Given the description of an element on the screen output the (x, y) to click on. 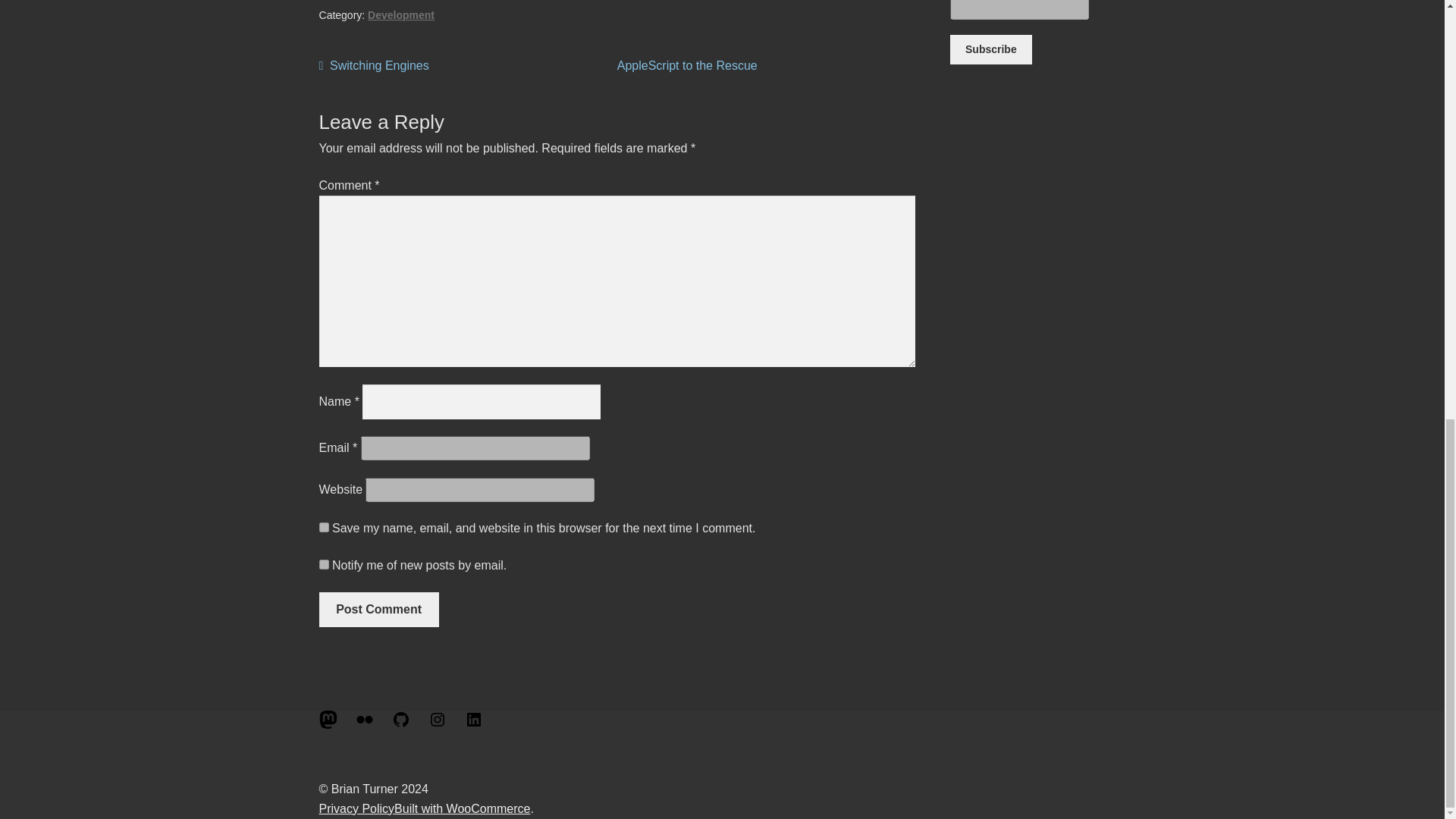
Development (373, 71)
subscribe (400, 21)
Post Comment (323, 570)
yes (378, 615)
Subscribe (323, 533)
Post Comment (990, 55)
Subscribe (378, 615)
WooCommerce - The Best eCommerce Platform for WordPress (990, 55)
Mastodon (461, 808)
